Given the description of an element on the screen output the (x, y) to click on. 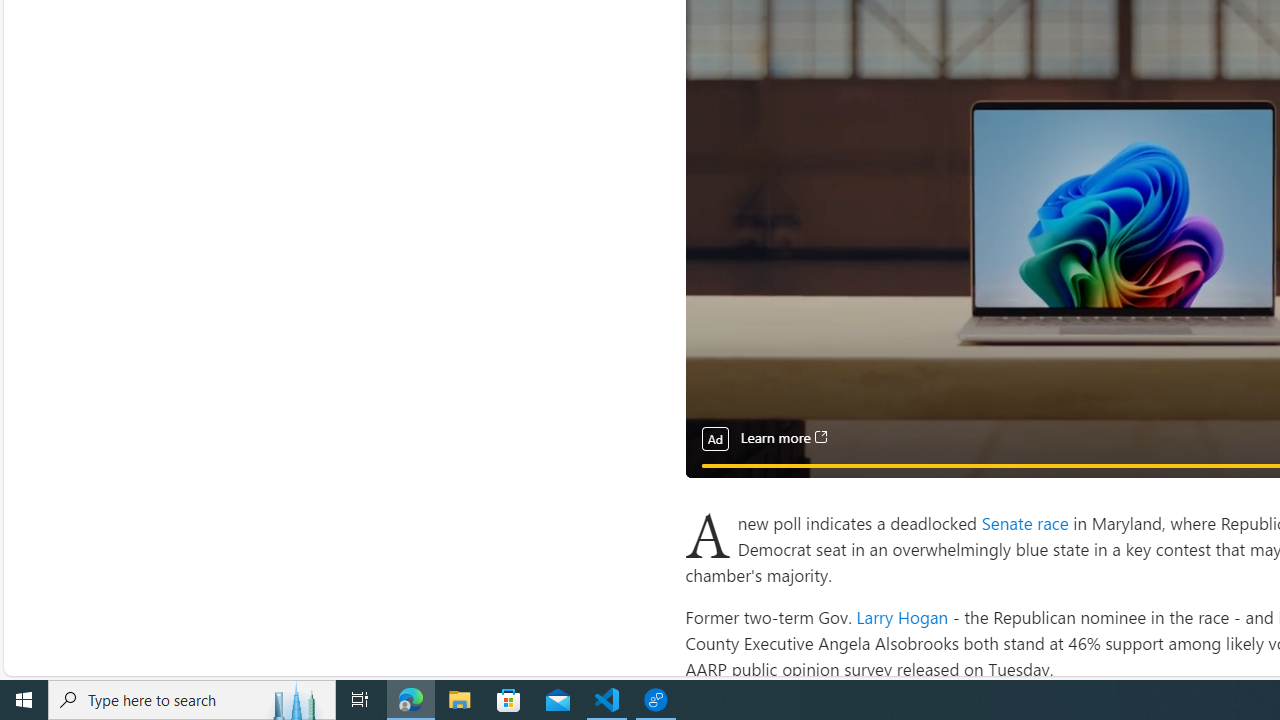
Senate race  (1026, 522)
Pause (714, 488)
Learn more (783, 438)
Larry Hogan (902, 615)
